Given the description of an element on the screen output the (x, y) to click on. 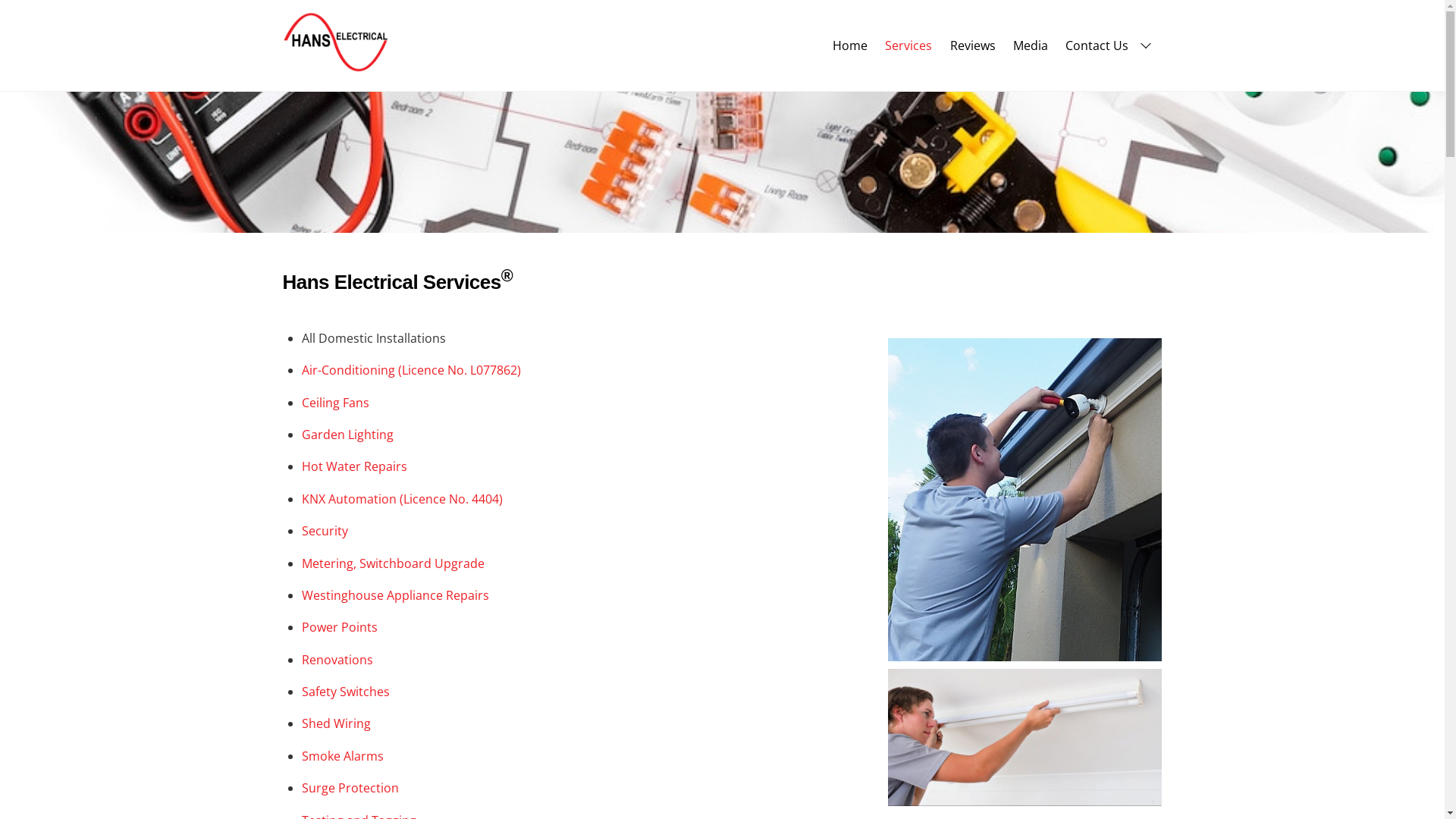
Westinghouse Appliance Repairs Element type: text (395, 594)
KNX Automation (Licence No. 4404) Element type: text (401, 498)
Air-Conditioning (Licence No. L077862) Element type: text (410, 369)
Media Element type: text (1029, 45)
Ceiling Fans Element type: text (335, 402)
Smoke Alarms Element type: text (342, 755)
Security Element type: text (324, 530)
Surge Protection Element type: text (349, 787)
Hot Water Repairs Element type: text (354, 466)
Contact Us Element type: text (1109, 45)
Power Points Element type: text (339, 626)
Metering, Switchboard Upgrade Element type: text (392, 563)
Renovations Element type: text (337, 659)
Reviews Element type: text (972, 45)
Garden Lighting Element type: text (347, 434)
Services Element type: text (908, 45)
Home Element type: text (850, 45)
Safety Switches Element type: text (345, 691)
Shed Wiring Element type: text (335, 723)
